Given the description of an element on the screen output the (x, y) to click on. 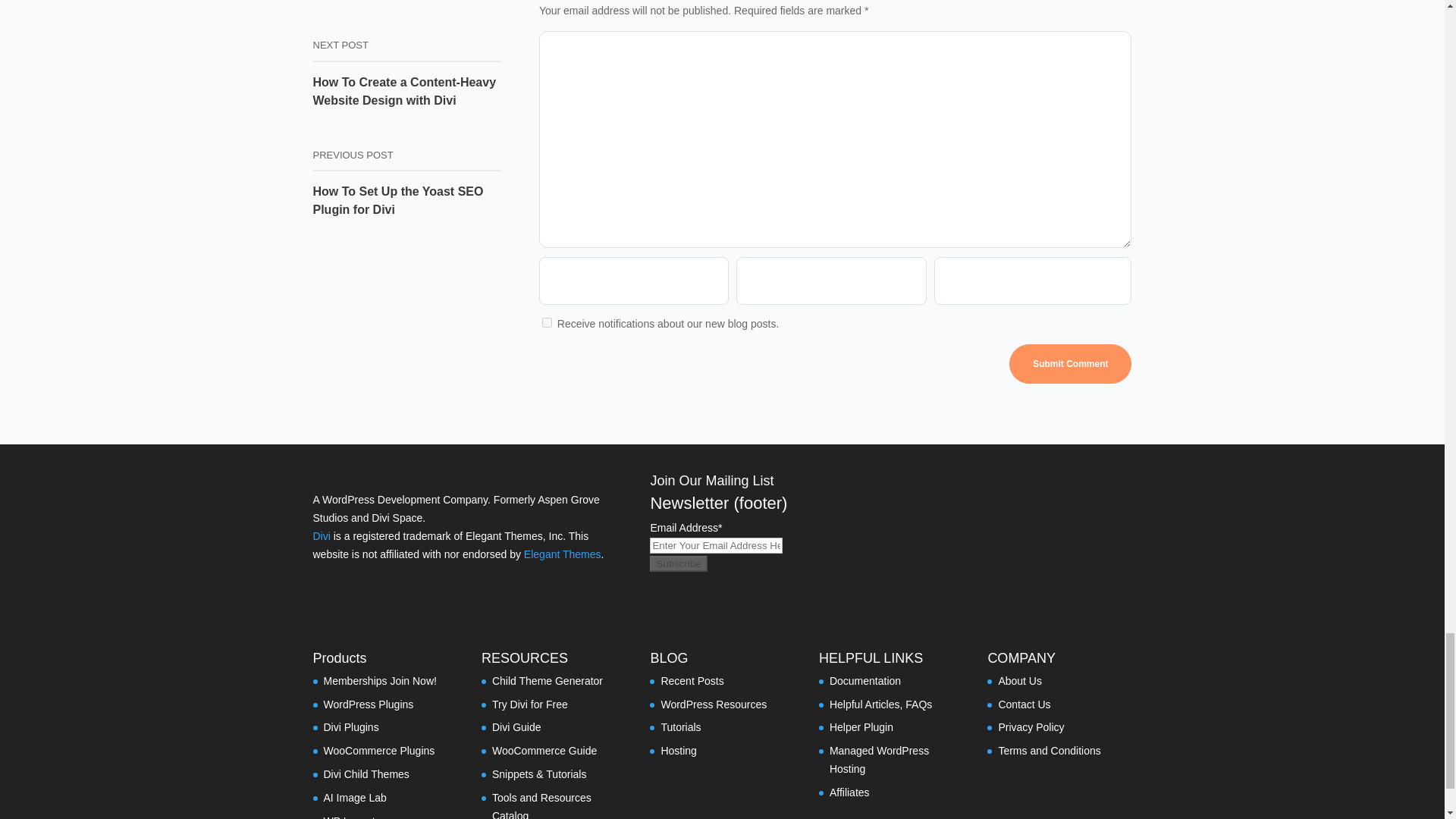
Submit Comment (1070, 363)
1 (546, 322)
Subscribe (677, 563)
